Given the description of an element on the screen output the (x, y) to click on. 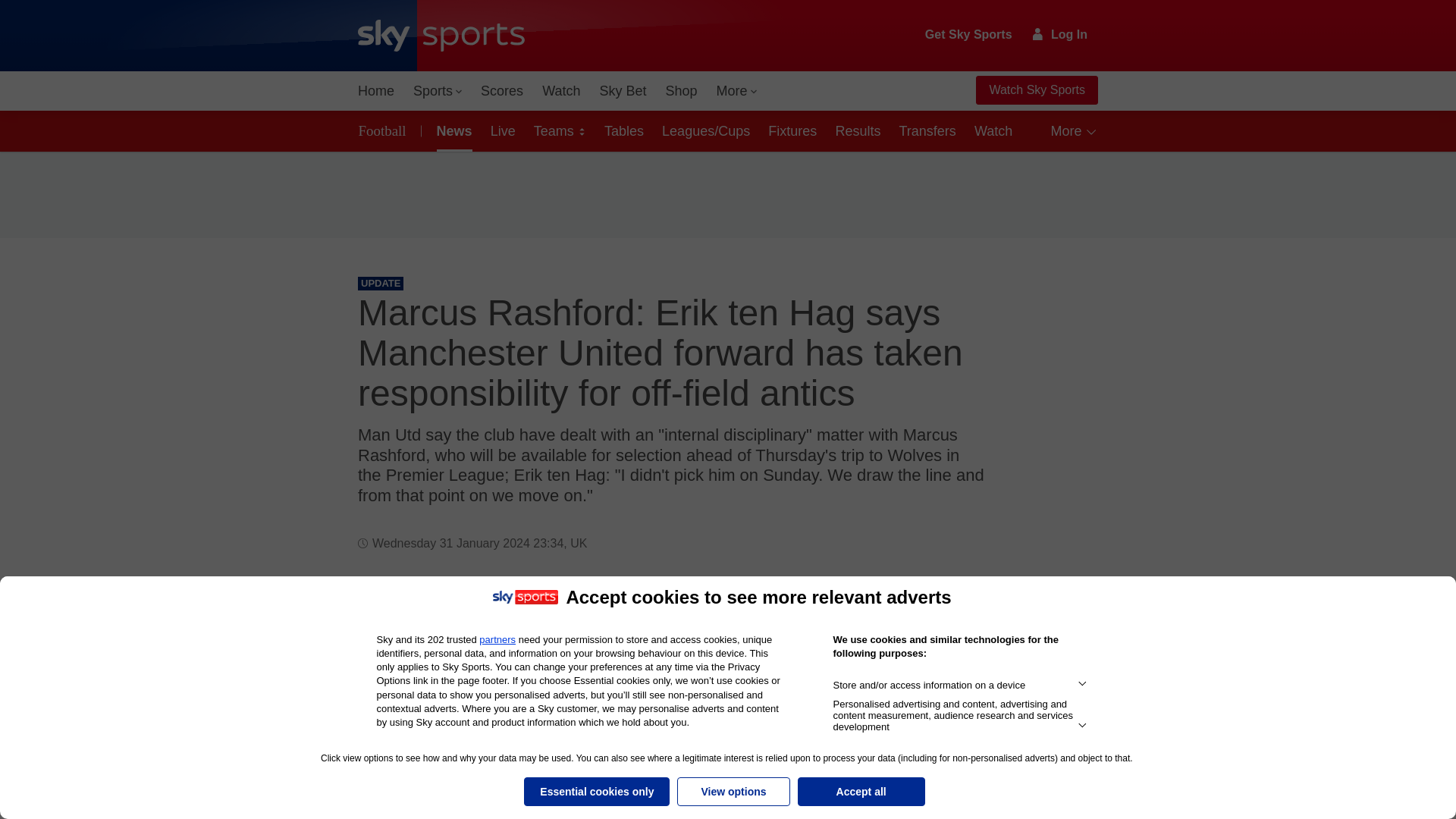
Shop (681, 91)
Watch Sky Sports (1036, 90)
News (451, 130)
Scores (502, 91)
Get Sky Sports (968, 34)
Sports (437, 91)
Football (385, 130)
Sky Bet (622, 91)
Home (375, 91)
Watch (561, 91)
